Given the description of an element on the screen output the (x, y) to click on. 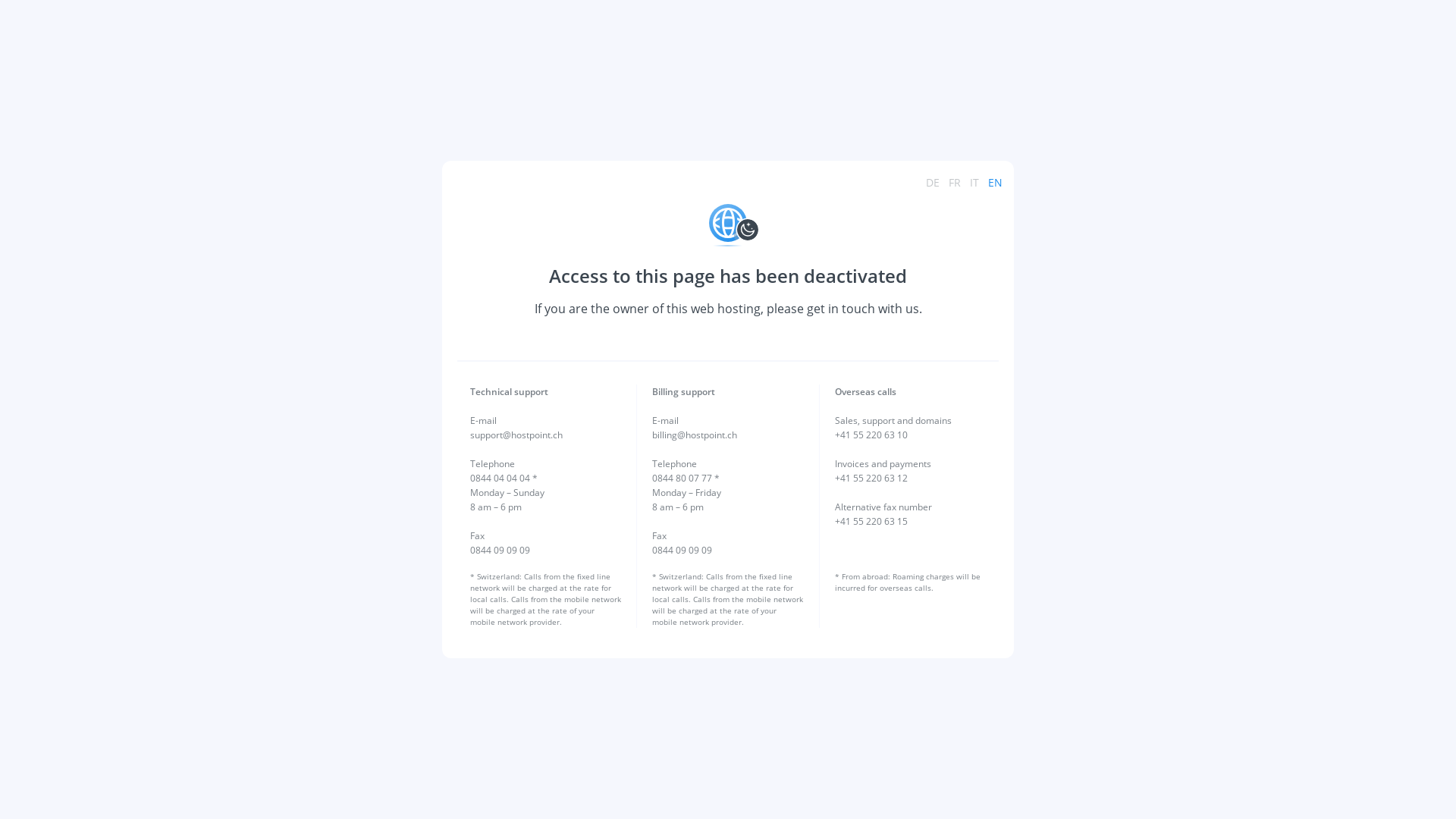
support@hostpoint.ch Element type: text (516, 434)
billing@hostpoint.ch Element type: text (694, 434)
